Given the description of an element on the screen output the (x, y) to click on. 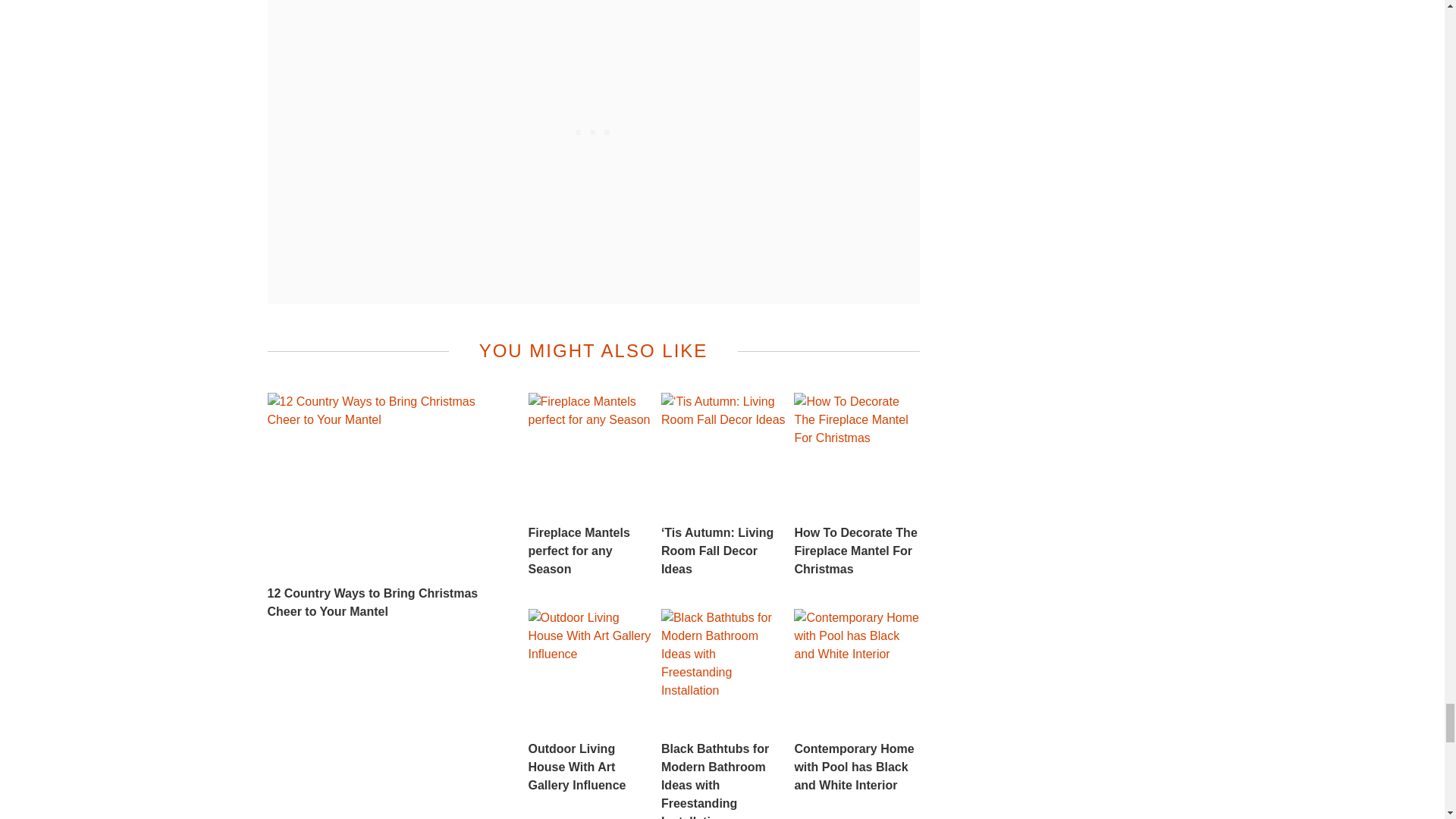
Fireplace Mantels perfect for any Season (589, 485)
Contemporary Home with Pool has Black and White Interior (855, 701)
12 Country Ways to Bring Christmas Cheer to Your Mantel (385, 506)
Outdoor Living House With Art Gallery Influence (589, 701)
How To Decorate The Fireplace Mantel For Christmas (855, 485)
12 Country Ways to Bring Christmas Cheer to Your Mantel (385, 506)
Fireplace Mantels perfect for any Season (589, 485)
Contemporary Home with Pool has Black and White Interior (855, 701)
How To Decorate The Fireplace Mantel For Christmas (855, 485)
Outdoor Living House With Art Gallery Influence (589, 701)
